Given the description of an element on the screen output the (x, y) to click on. 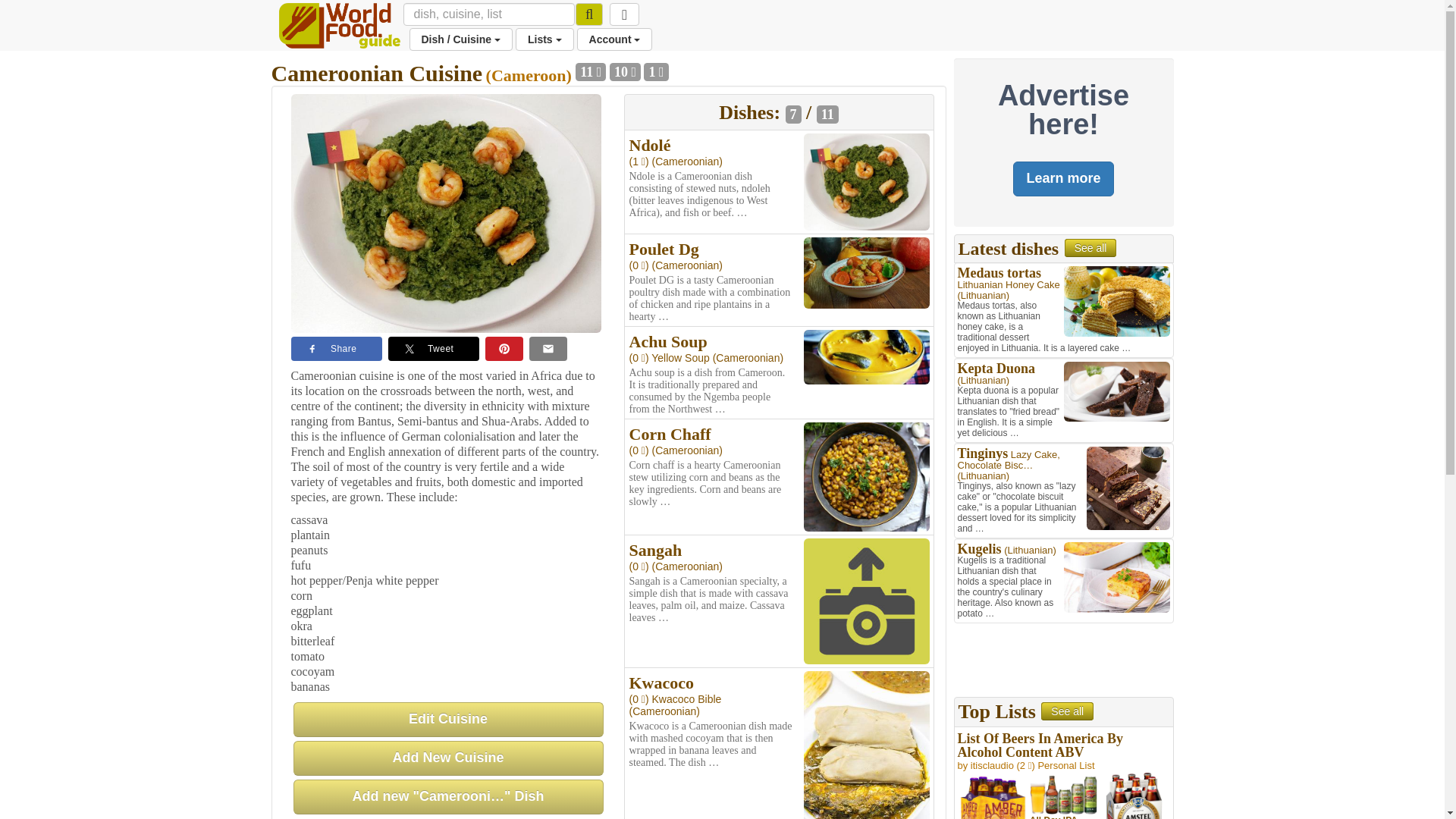
Upload new Sangah photo (866, 601)
Total dishes (827, 114)
Click to see the photo (866, 271)
Number of photos (625, 72)
Add New Cuisine (447, 758)
Account (614, 38)
Click to see the photo (866, 764)
Edit Cuisine (447, 719)
Lists (544, 38)
Number of dishes (590, 72)
